Given the description of an element on the screen output the (x, y) to click on. 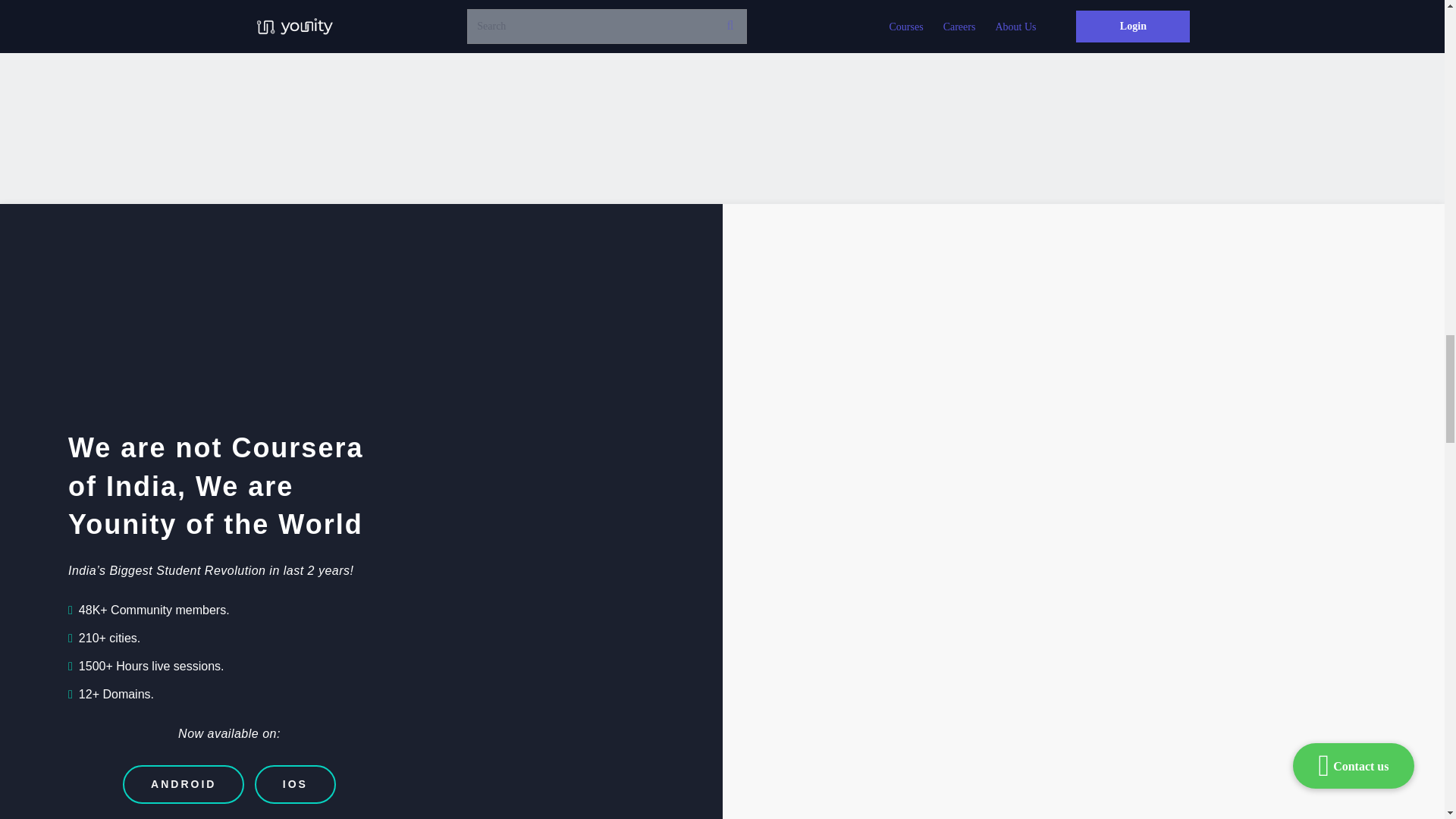
Younity on Play Store (819, 457)
IOS (295, 783)
Younity Website (993, 421)
ANDROID (183, 783)
